Given the description of an element on the screen output the (x, y) to click on. 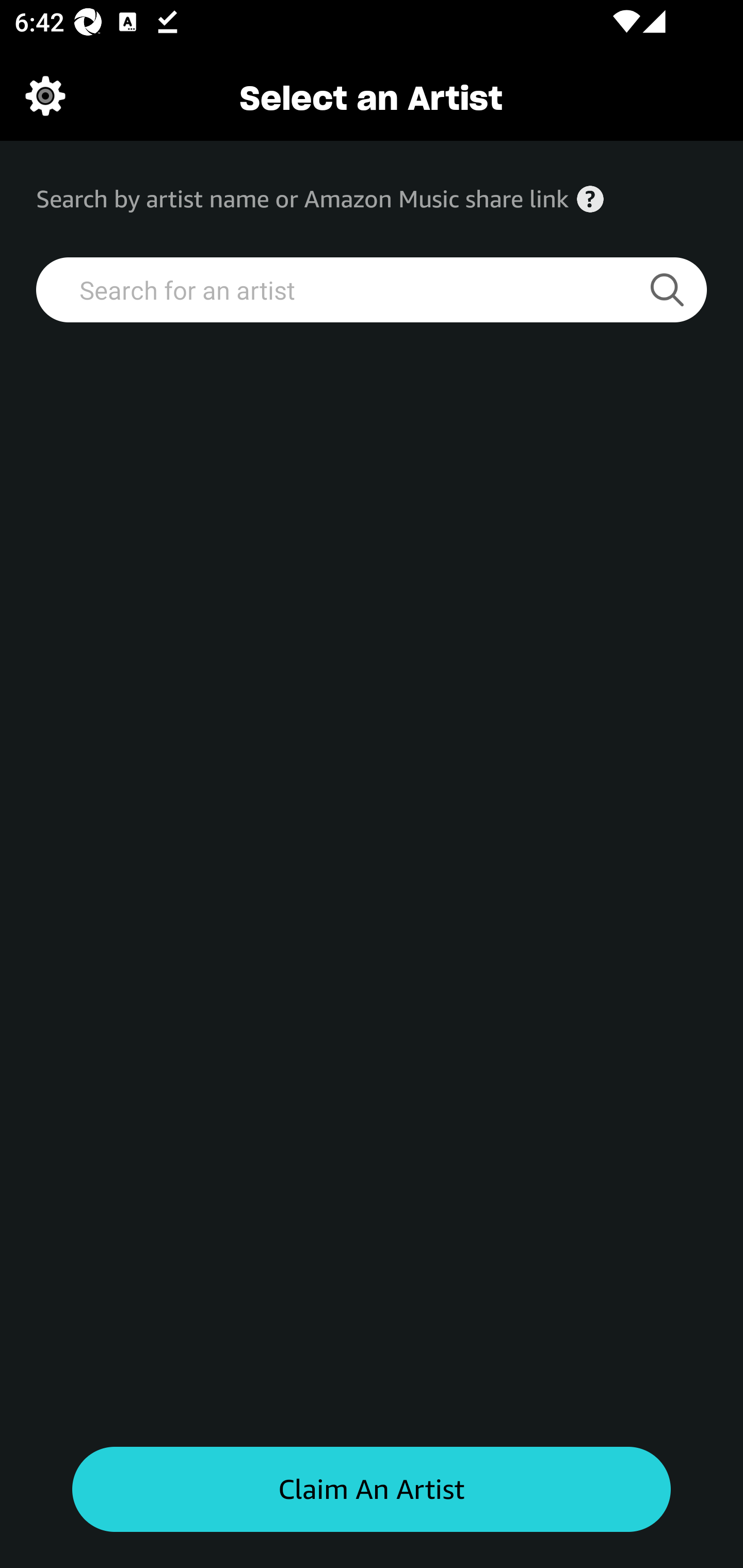
Help  icon (589, 199)
Claim an artist button Claim An Artist (371, 1489)
